Given the description of an element on the screen output the (x, y) to click on. 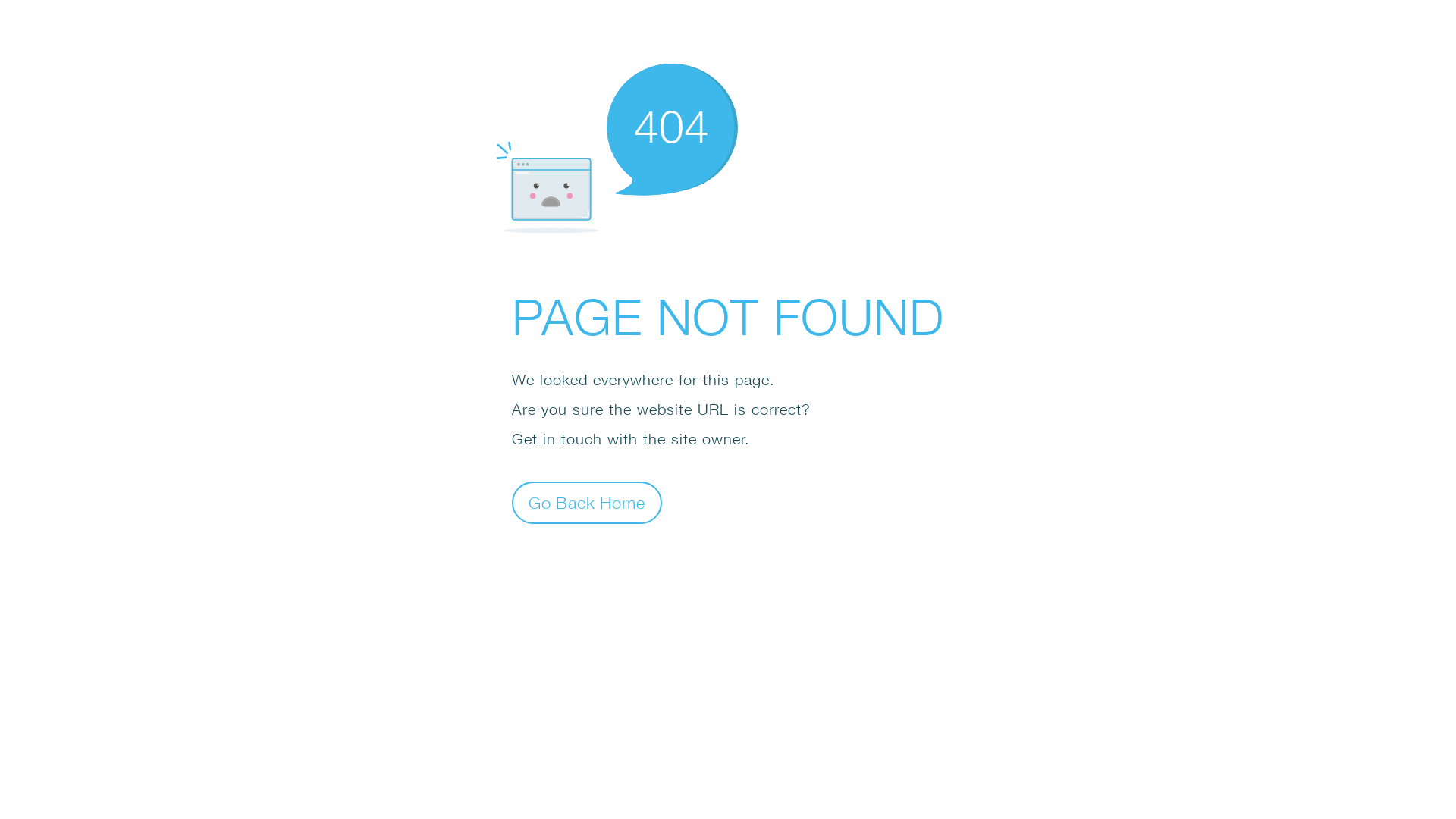
Go Back Home Element type: text (586, 502)
